Given the description of an element on the screen output the (x, y) to click on. 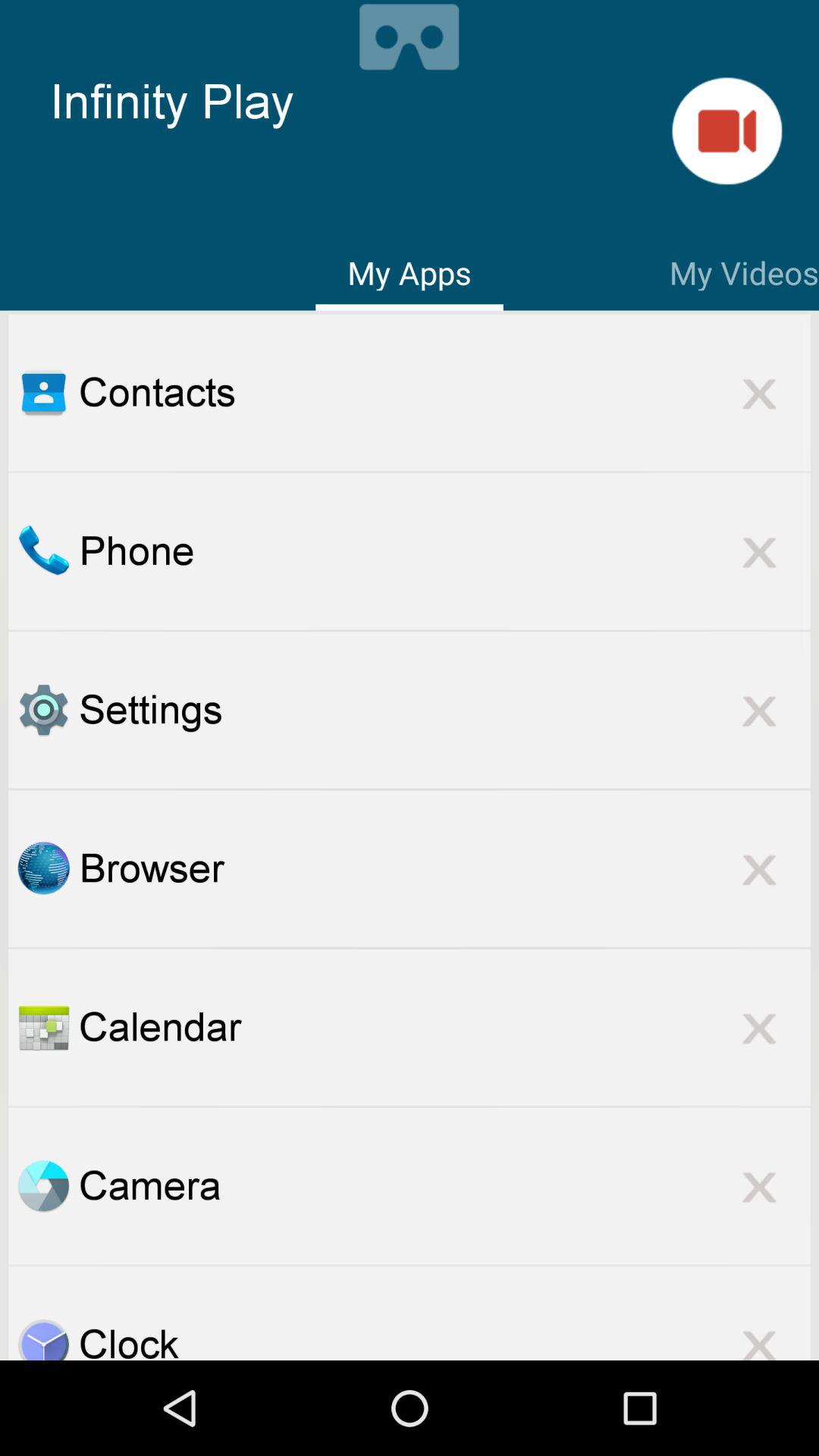
select a web brower (43, 868)
